Given the description of an element on the screen output the (x, y) to click on. 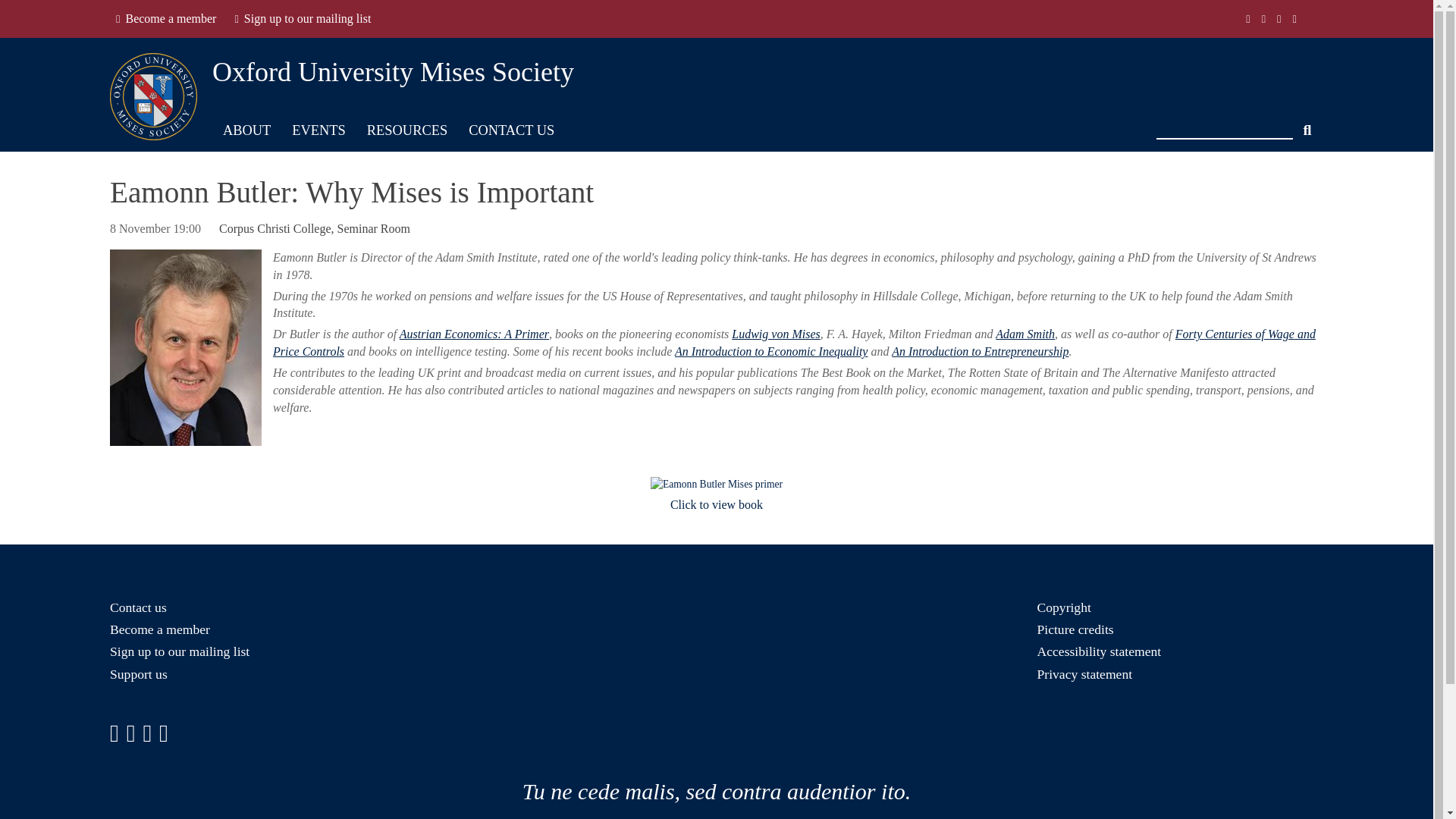
Sign up to our mailing list (302, 19)
Oxford University Mises Society (392, 72)
Support us (138, 673)
Enter the terms you wish to search for (1224, 123)
EVENTS (318, 129)
Forty Centuries of Wage and Price Controls (794, 342)
Mailing List (302, 19)
Contact us (138, 607)
CONTACT US (511, 129)
An Introduction to Entrepreneurship (979, 350)
